Given the description of an element on the screen output the (x, y) to click on. 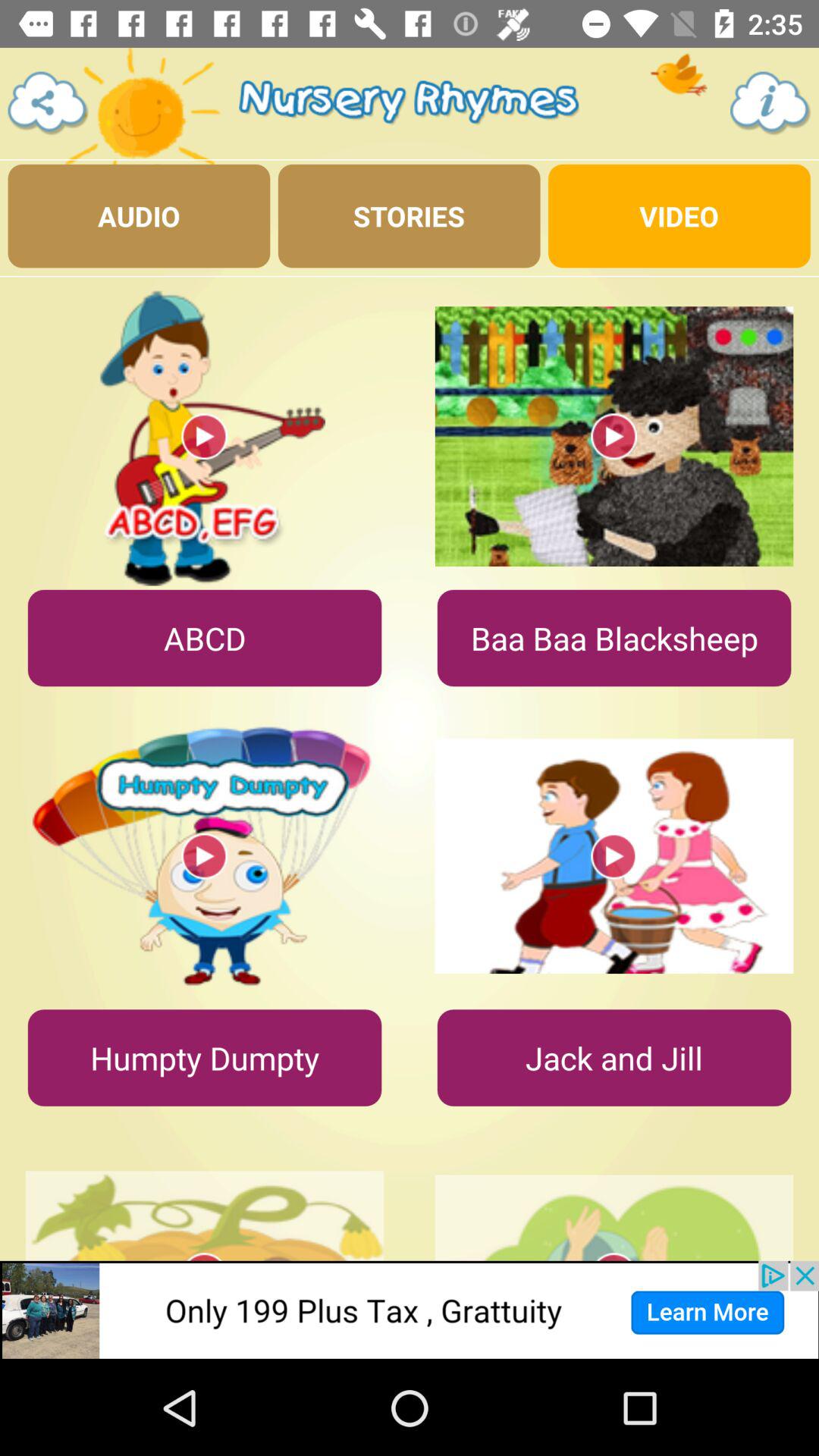
go to share (47, 103)
